Given the description of an element on the screen output the (x, y) to click on. 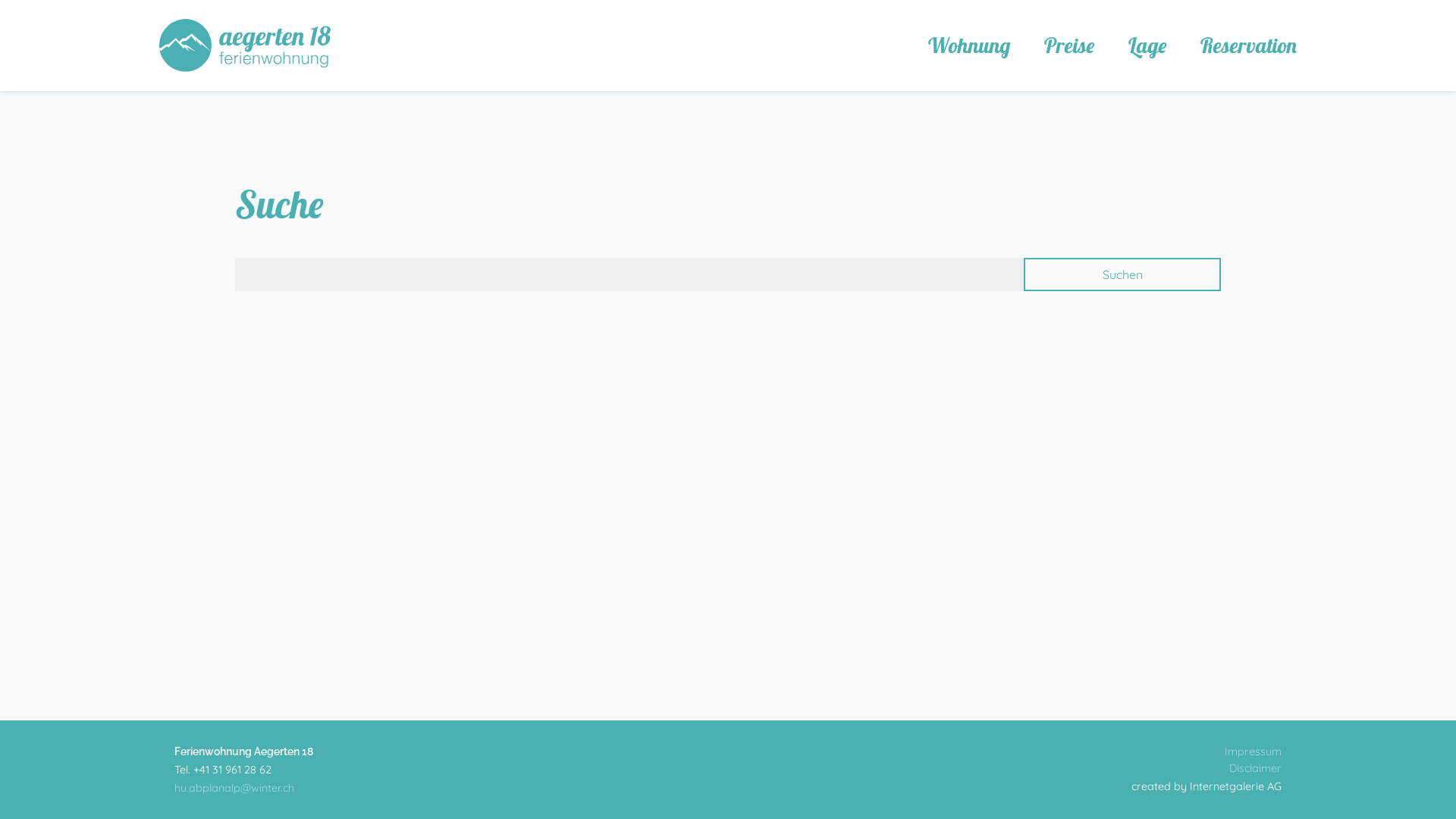
Ferienwohnung Aegerten 18 Element type: hover (244, 45)
Preise Element type: text (1069, 45)
hu.abplanalpwinter.ch Element type: text (234, 787)
Impressum Element type: text (1252, 751)
Disclaimer Element type: text (1255, 768)
Reservation Element type: text (1248, 45)
created by Internetgalerie AG Element type: text (1206, 786)
Lage Element type: text (1147, 45)
Suchen Element type: text (1121, 274)
Wohnung Element type: text (969, 45)
